Given the description of an element on the screen output the (x, y) to click on. 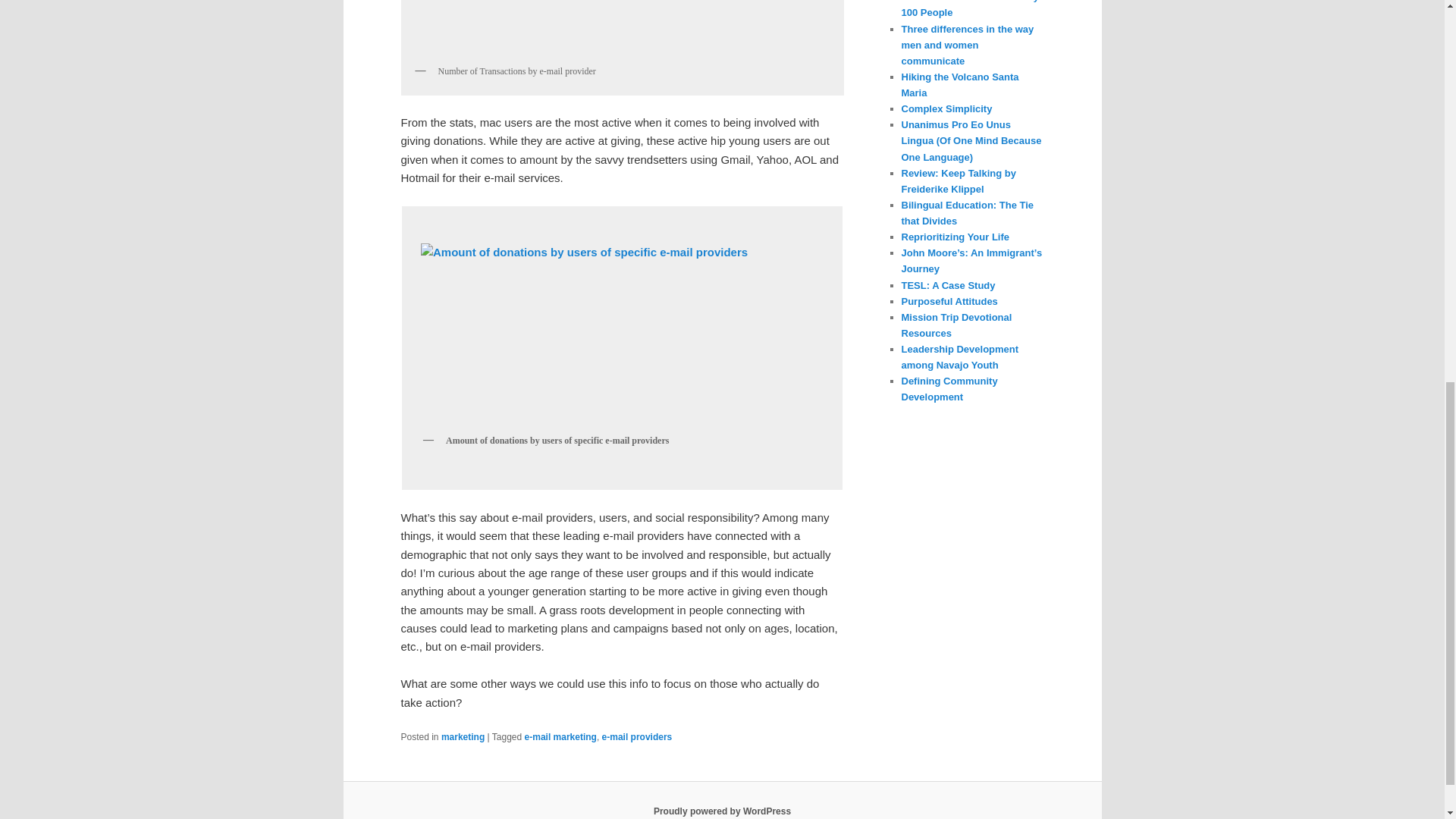
The World If There Were Only 100 People (970, 9)
Complex Simplicity (946, 108)
e-mail marketing (560, 737)
marketing (462, 737)
picture-14 (621, 331)
Semantic Personal Publishing Platform (721, 810)
Three differences in the way men and women communicate (967, 44)
Reprioritizing Your Life (955, 236)
Bilingual Education: The Tie that Divides (967, 212)
picture-12 (622, 28)
TESL: A Case Study (947, 284)
Hiking the Volcano Santa Maria (959, 84)
Review: Keep Talking by Freiderike Klippel (957, 180)
e-mail providers (637, 737)
